Given the description of an element on the screen output the (x, y) to click on. 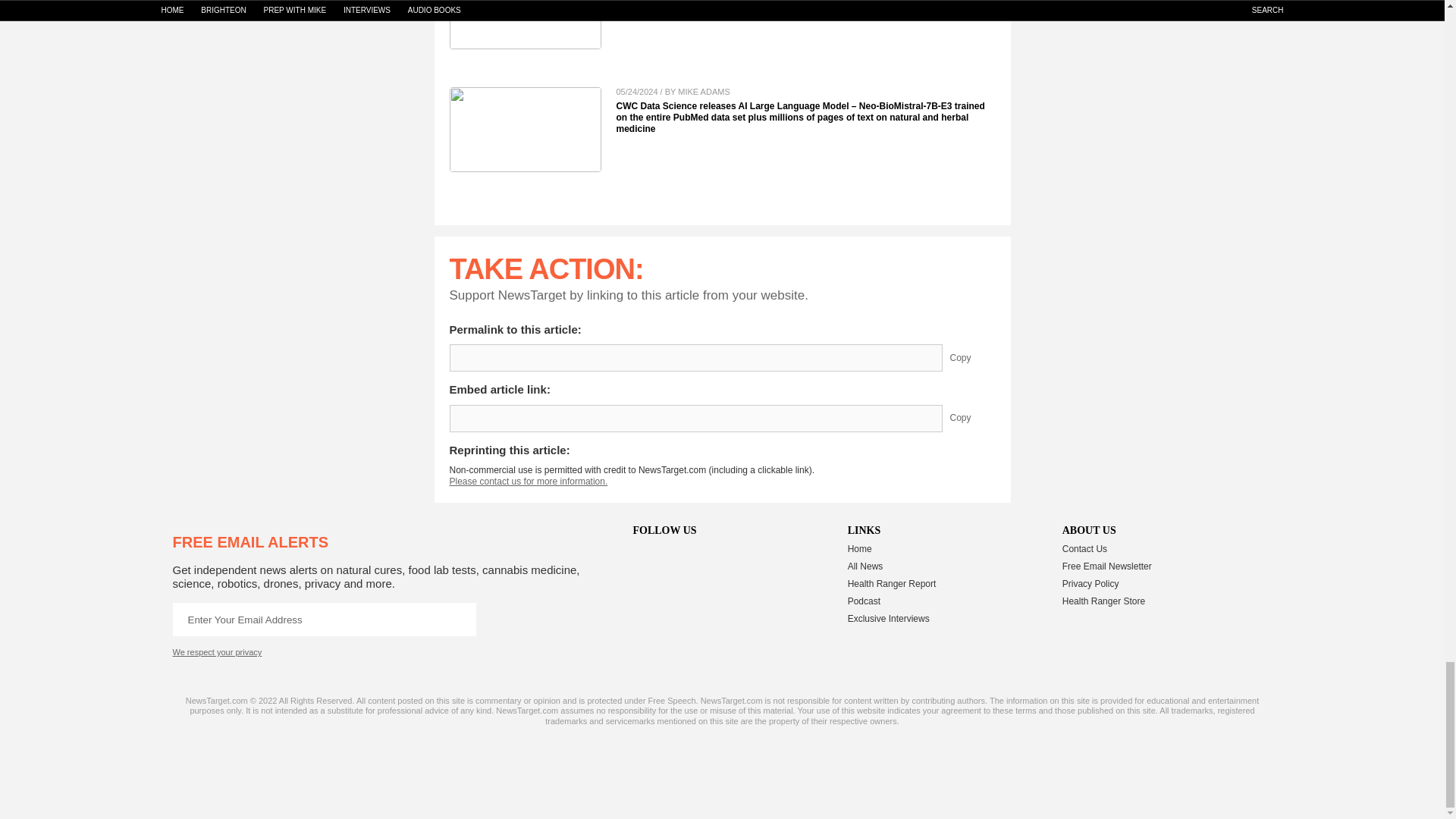
Copy Embed Link (971, 418)
Copy Permalink (971, 357)
Continue (459, 619)
